Given the description of an element on the screen output the (x, y) to click on. 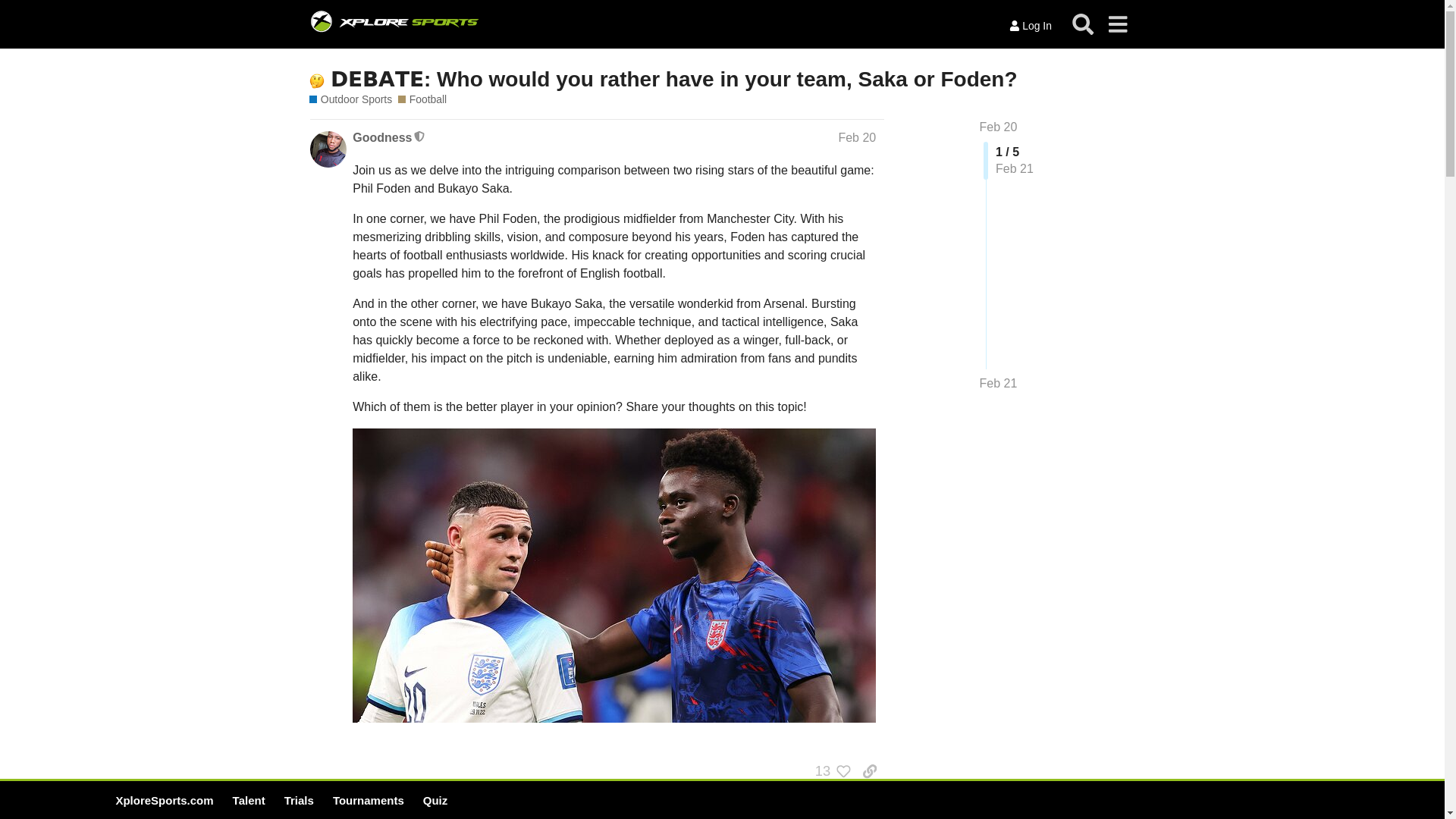
Jump to the last post (998, 382)
Feb 20 (998, 126)
Search (1082, 23)
Goodness (382, 137)
Post date (857, 137)
Feb 21 (998, 383)
Outdoor Sports (349, 99)
thinking (316, 80)
Feb 20 (857, 137)
Log In (1030, 25)
This user is a moderator (419, 137)
13 (829, 770)
menu (1117, 23)
Jump to the first post (377, 812)
